Given the description of an element on the screen output the (x, y) to click on. 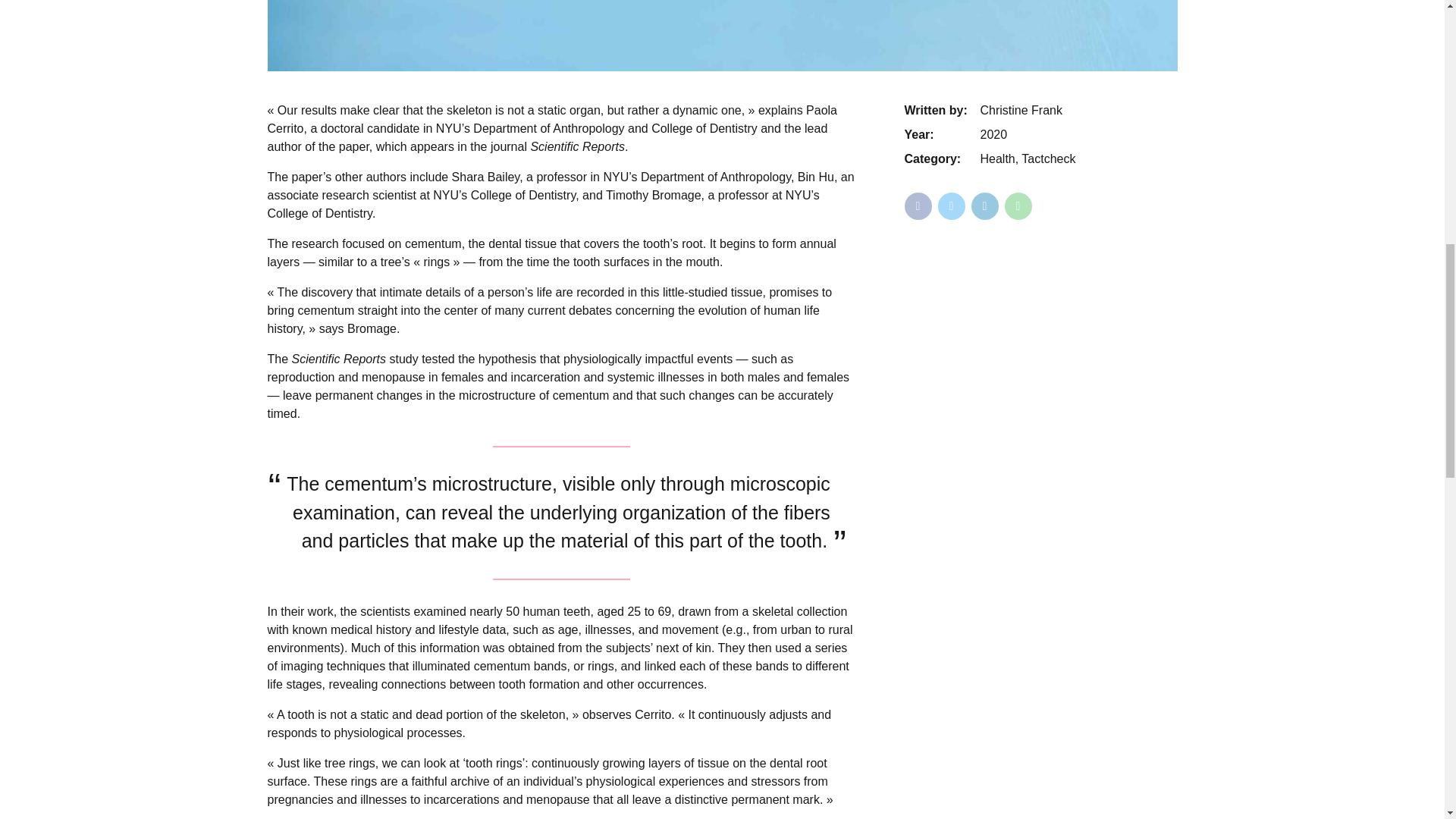
Share on Twitter (950, 206)
Share on Linkedin (984, 206)
Share on Facebook (917, 206)
Share on WhatsApp (1017, 206)
